Given the description of an element on the screen output the (x, y) to click on. 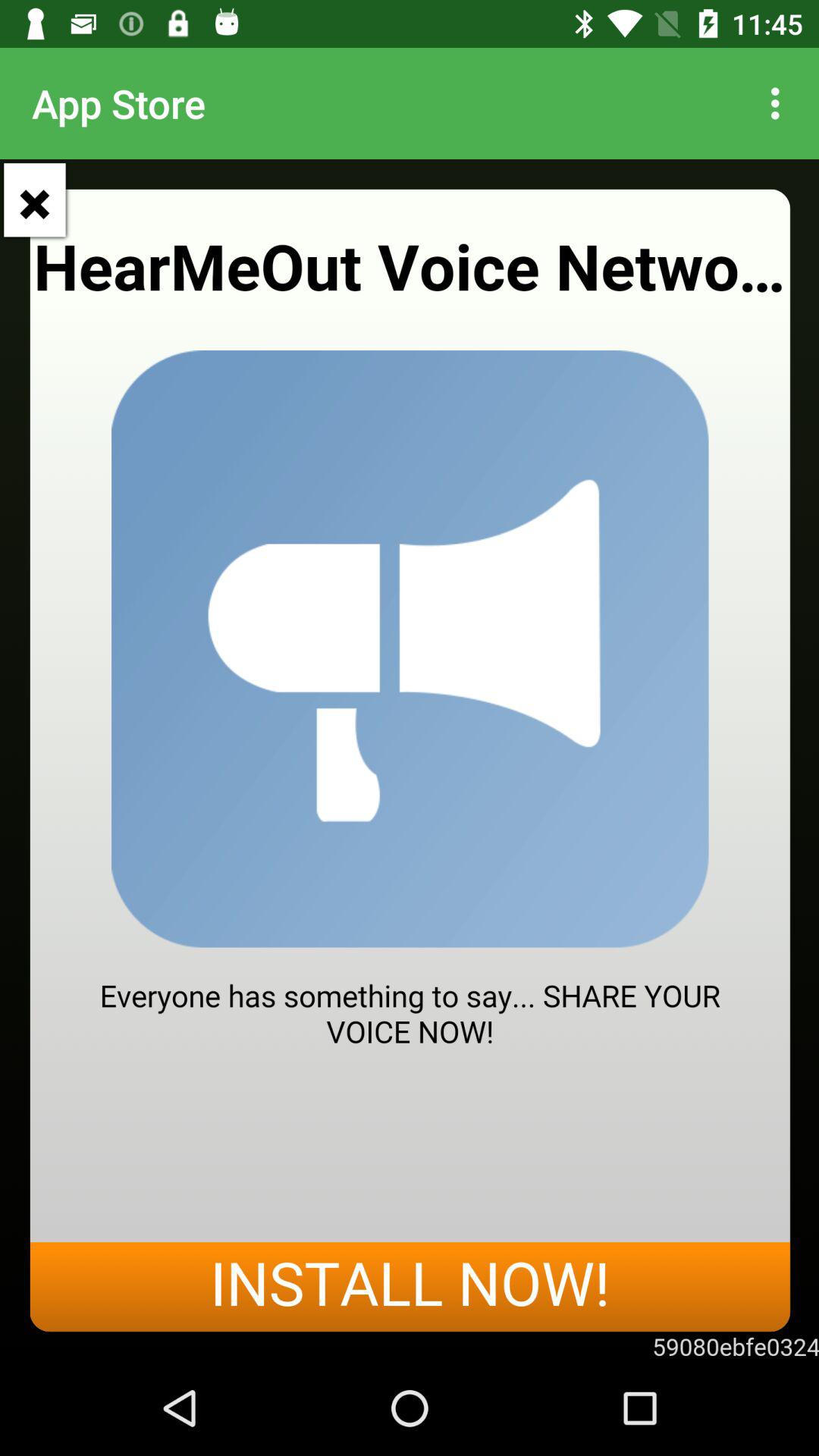
install application (409, 759)
